Given the description of an element on the screen output the (x, y) to click on. 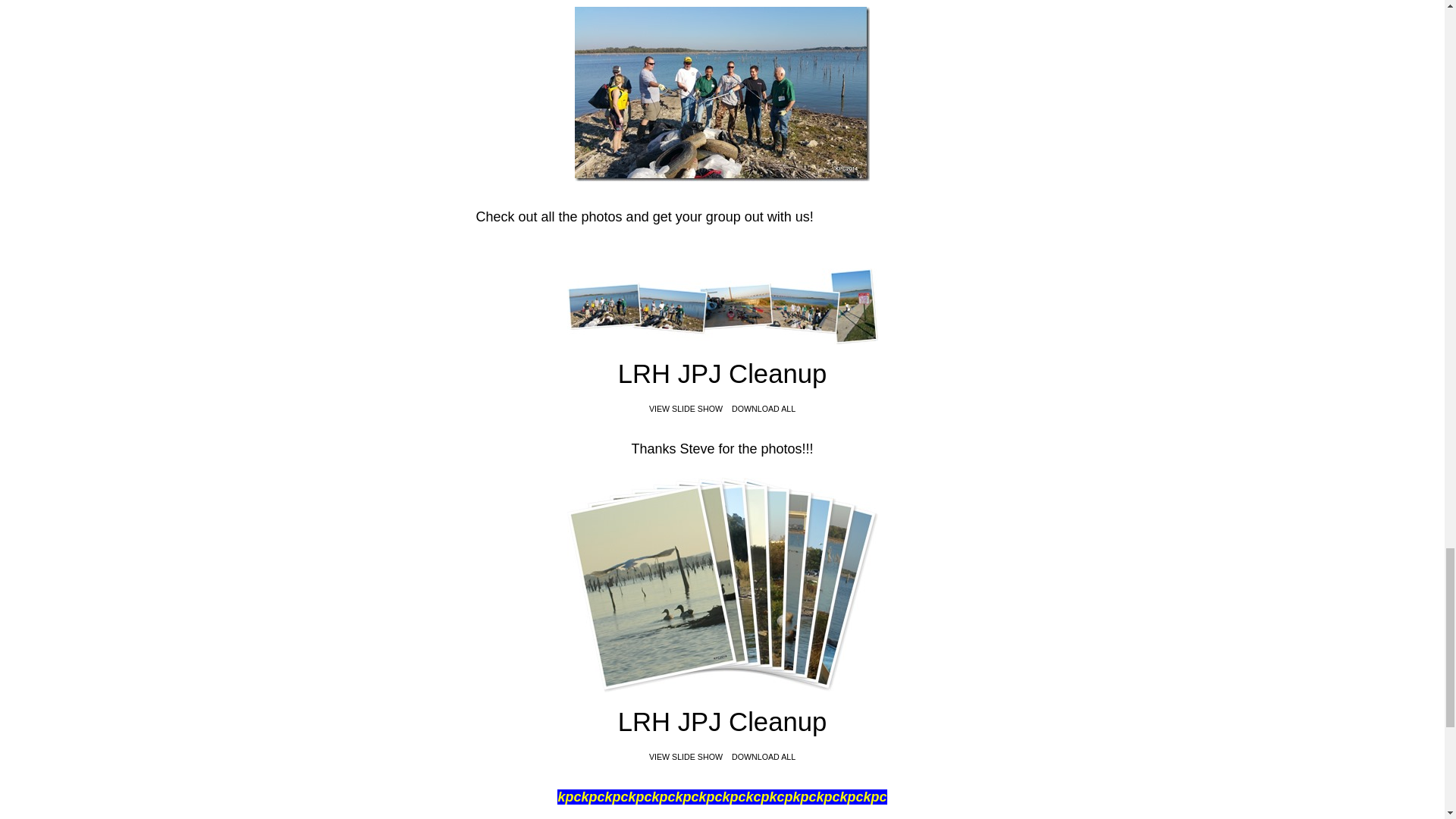
LRH JPJ Cleanup (722, 726)
View album (722, 305)
DOWNLOAD ALL (763, 408)
VIEW SLIDE SHOW (685, 756)
View album (722, 584)
VIEW SLIDE SHOW (685, 408)
DOWNLOAD ALL (763, 756)
